Given the description of an element on the screen output the (x, y) to click on. 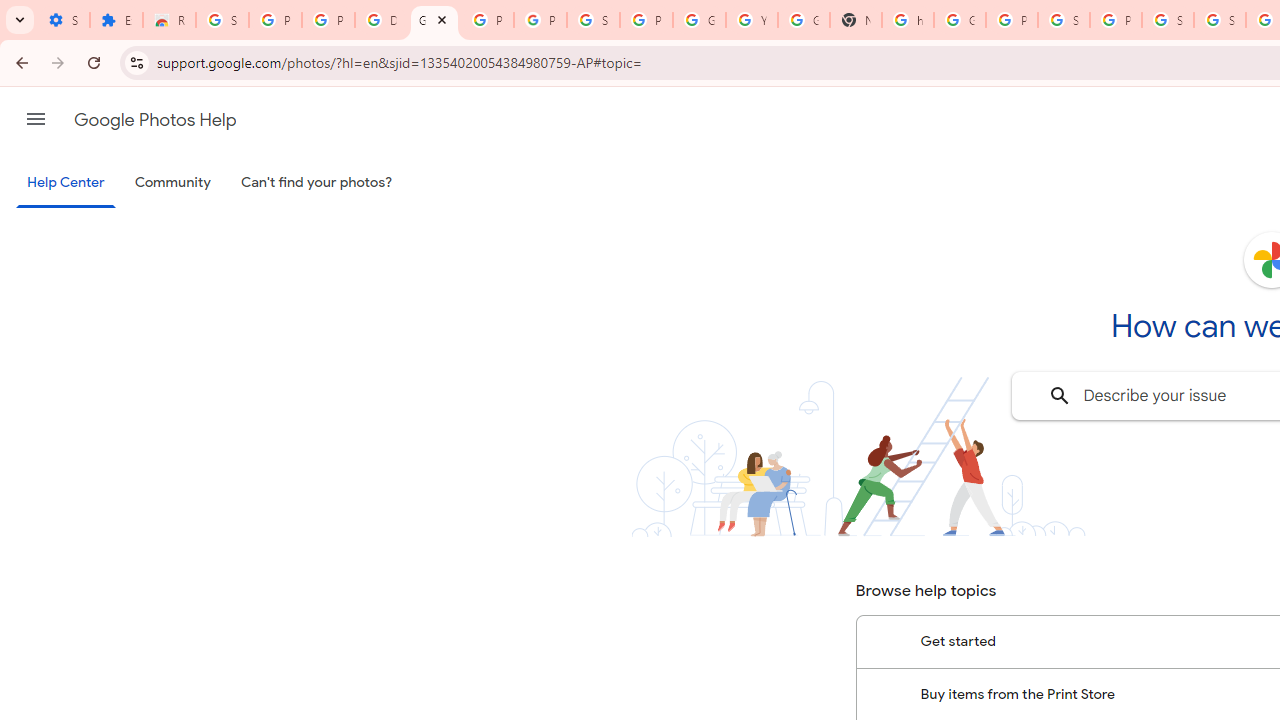
New Tab (855, 20)
Settings - On startup (63, 20)
Sign in - Google Accounts (222, 20)
Google Account (699, 20)
Can't find your photos? (317, 183)
Sign in - Google Accounts (1219, 20)
Main menu (35, 119)
